Given the description of an element on the screen output the (x, y) to click on. 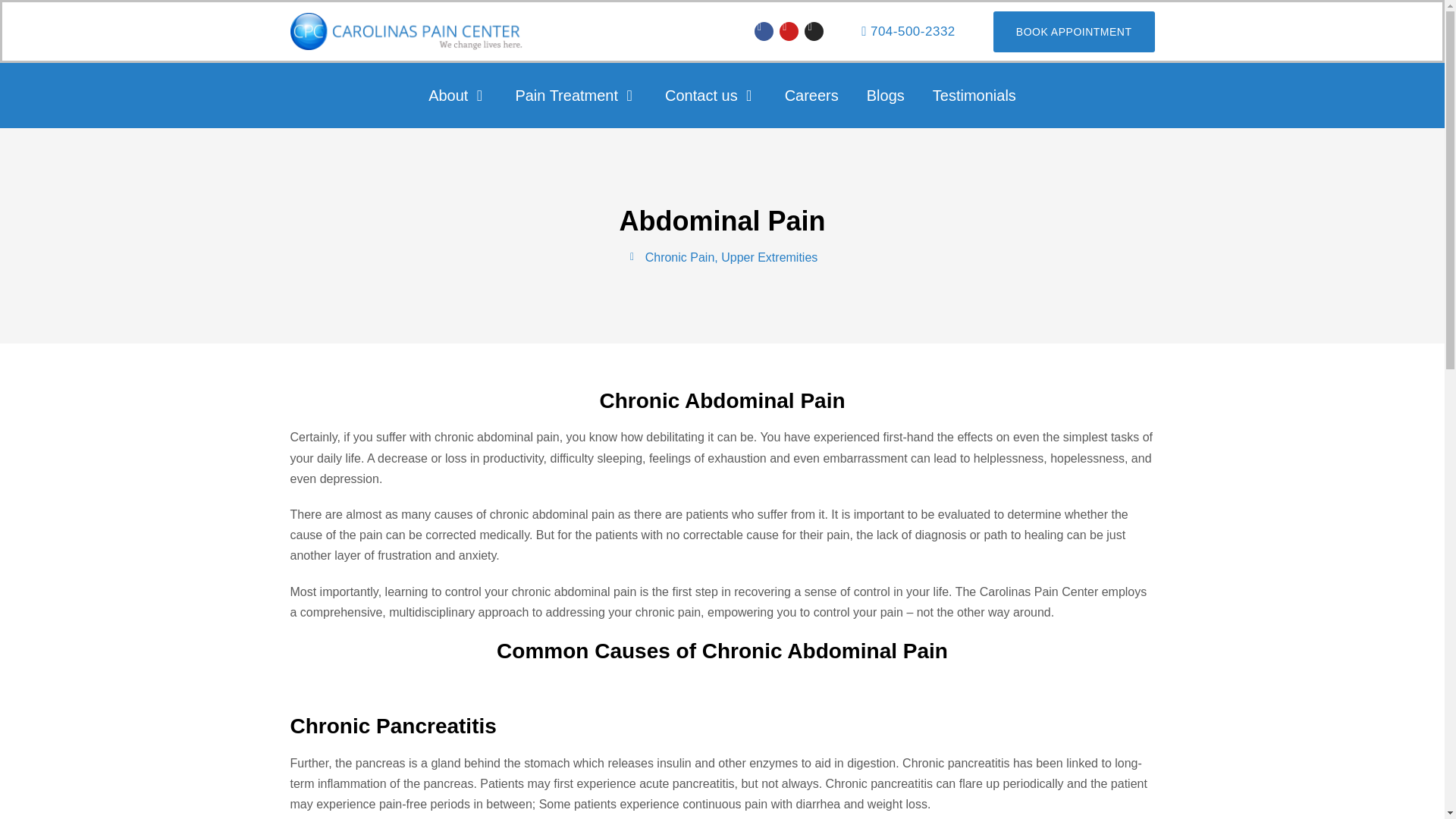
704-500-2332 (908, 31)
BOOK APPOINTMENT (1073, 30)
